Given the description of an element on the screen output the (x, y) to click on. 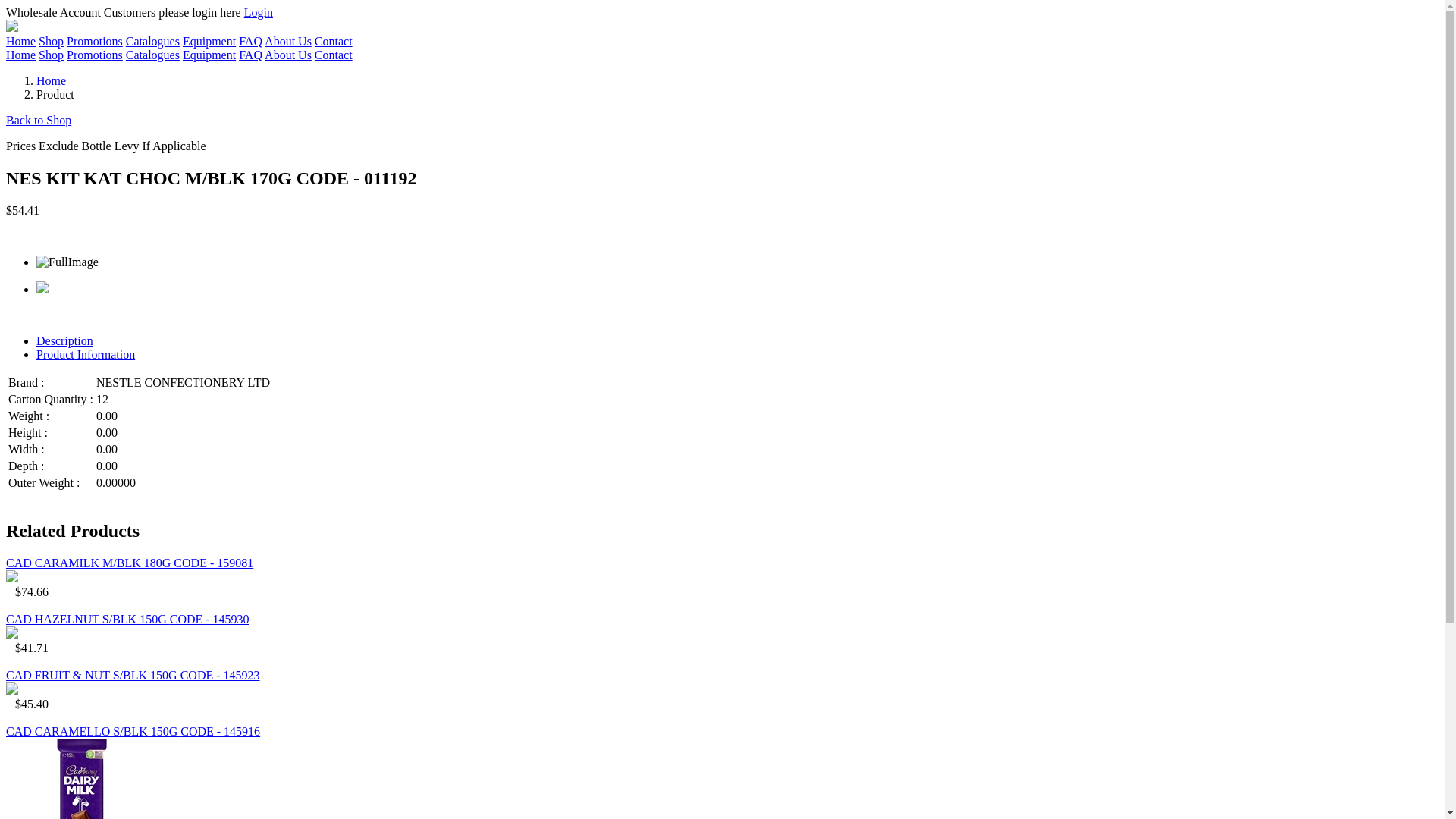
Shop Element type: text (50, 54)
About Us Element type: text (287, 40)
Home Element type: text (20, 40)
Promotions Element type: text (94, 54)
Product Information Element type: text (85, 354)
Promotions Element type: text (94, 40)
Back to Shop Element type: text (38, 119)
About Us Element type: text (287, 54)
Equipment Element type: text (208, 54)
Home Element type: text (20, 54)
Catalogues Element type: text (152, 54)
Contact Element type: text (333, 54)
Description Element type: text (64, 340)
Catalogues Element type: text (152, 40)
Equipment Element type: text (208, 40)
Login Element type: text (258, 12)
Contact Element type: text (333, 40)
FAQ Element type: text (250, 54)
FAQ Element type: text (250, 40)
Shop Element type: text (50, 40)
CAD CARAMELLO S/BLK 150G CODE - 145916 Element type: text (133, 730)
CAD CARAMILK M/BLK 180G CODE - 159081 Element type: text (129, 562)
Home Element type: text (50, 80)
CAD FRUIT & NUT S/BLK 150G CODE - 145923 Element type: text (133, 674)
CAD HAZELNUT S/BLK 150G CODE - 145930 Element type: text (127, 618)
